Given the description of an element on the screen output the (x, y) to click on. 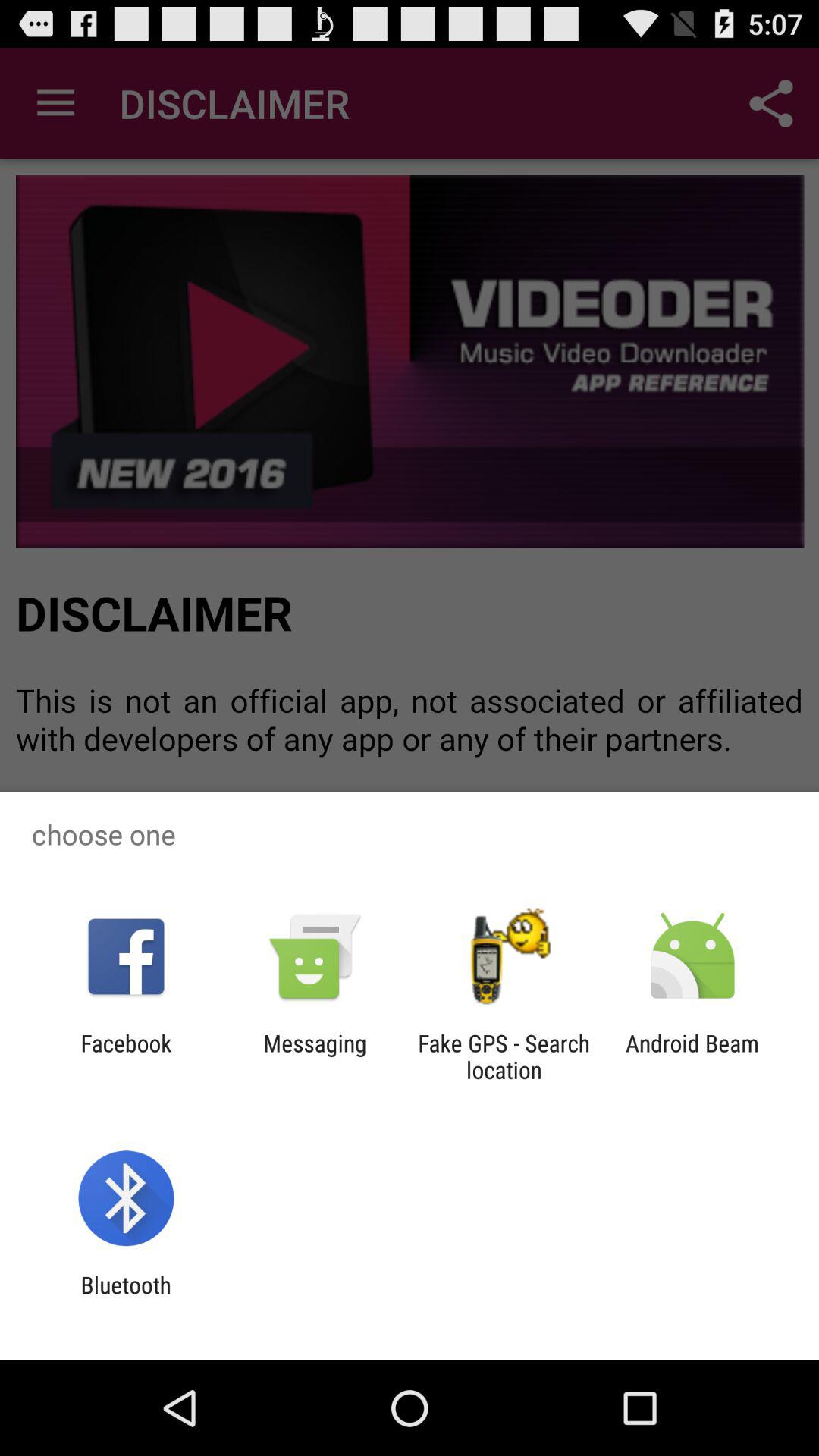
select the item next to fake gps search (314, 1056)
